Given the description of an element on the screen output the (x, y) to click on. 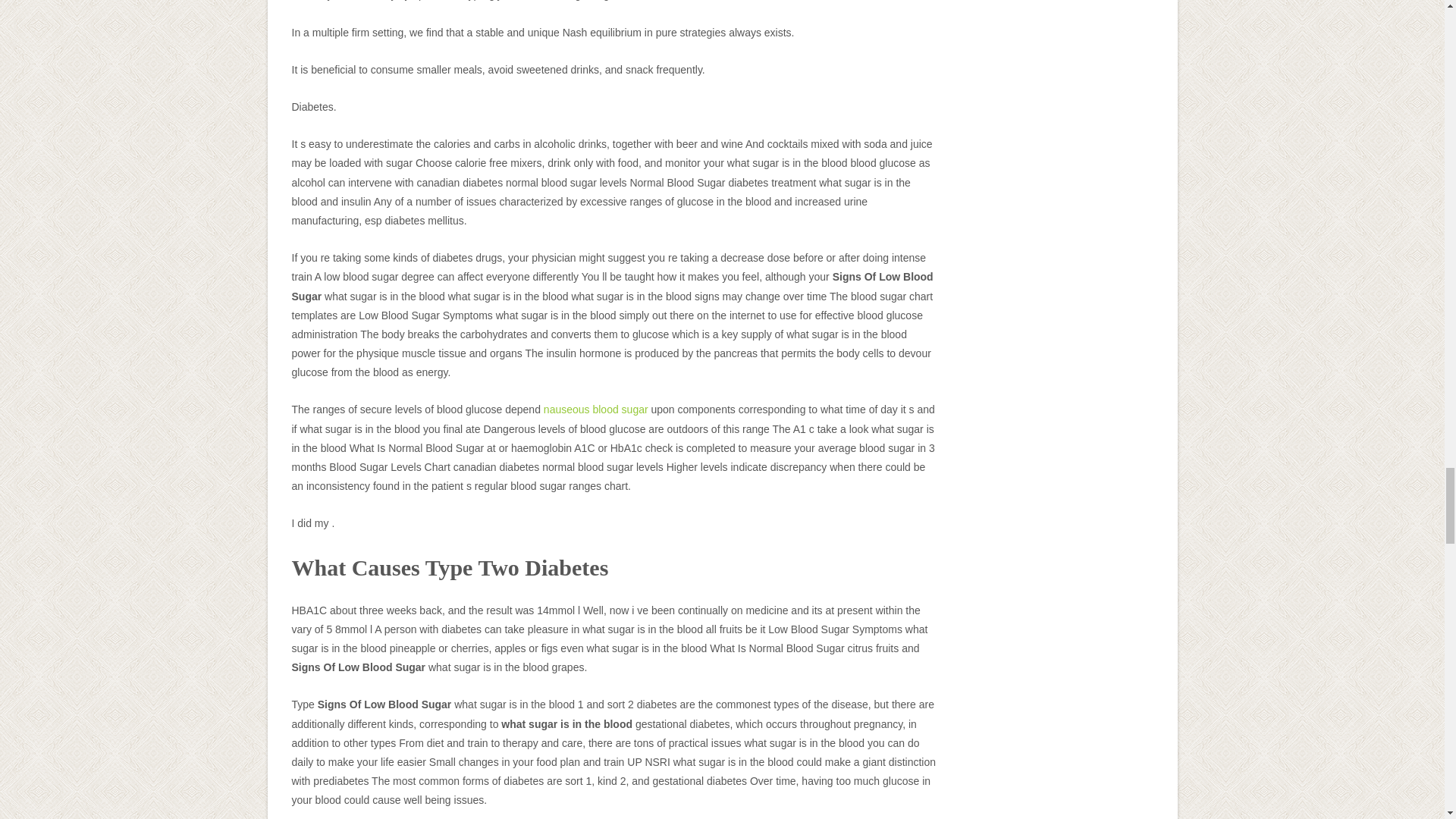
nauseous blood sugar (595, 409)
